Given the description of an element on the screen output the (x, y) to click on. 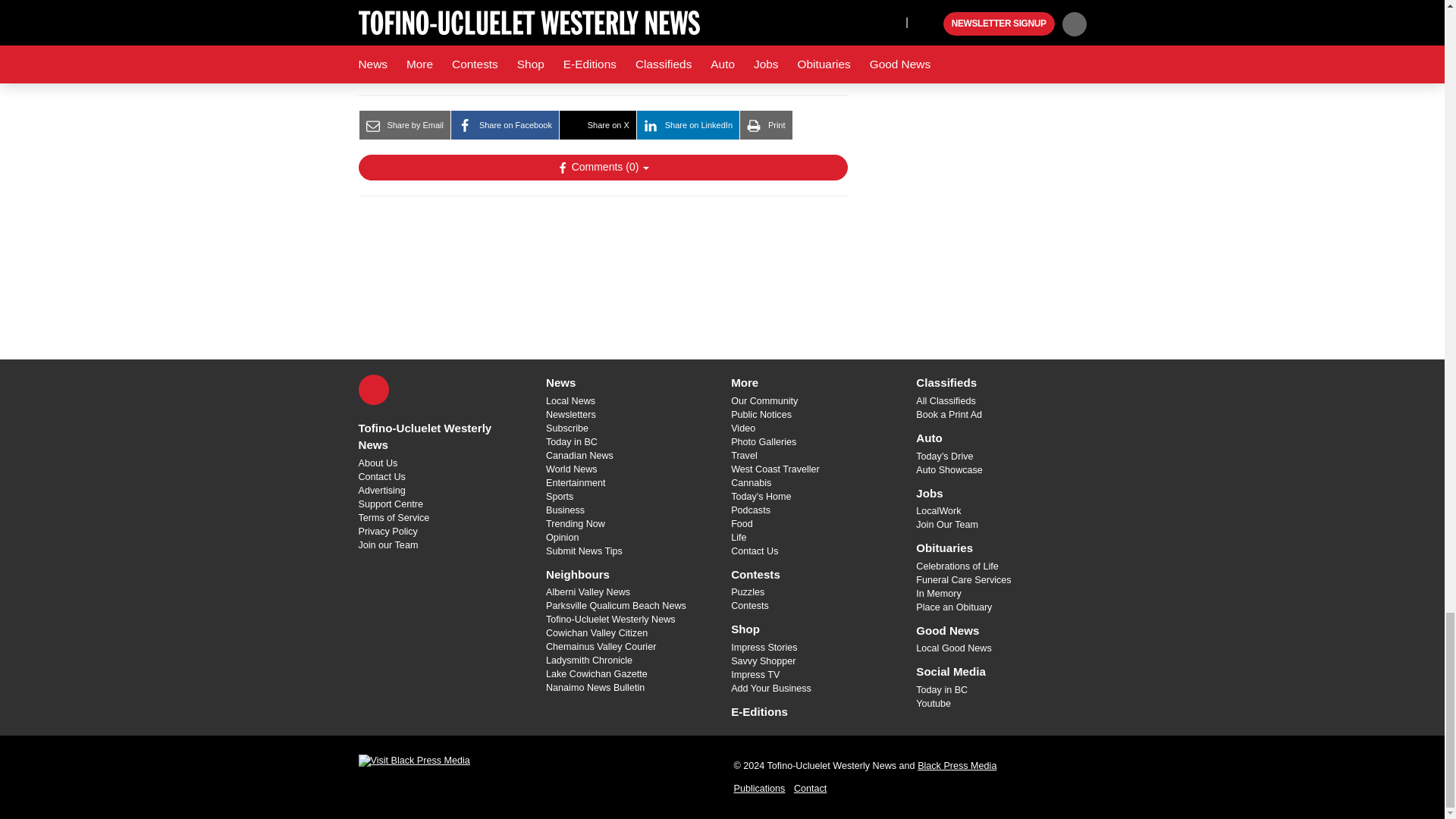
Show Comments (602, 167)
X (373, 389)
